Given the description of an element on the screen output the (x, y) to click on. 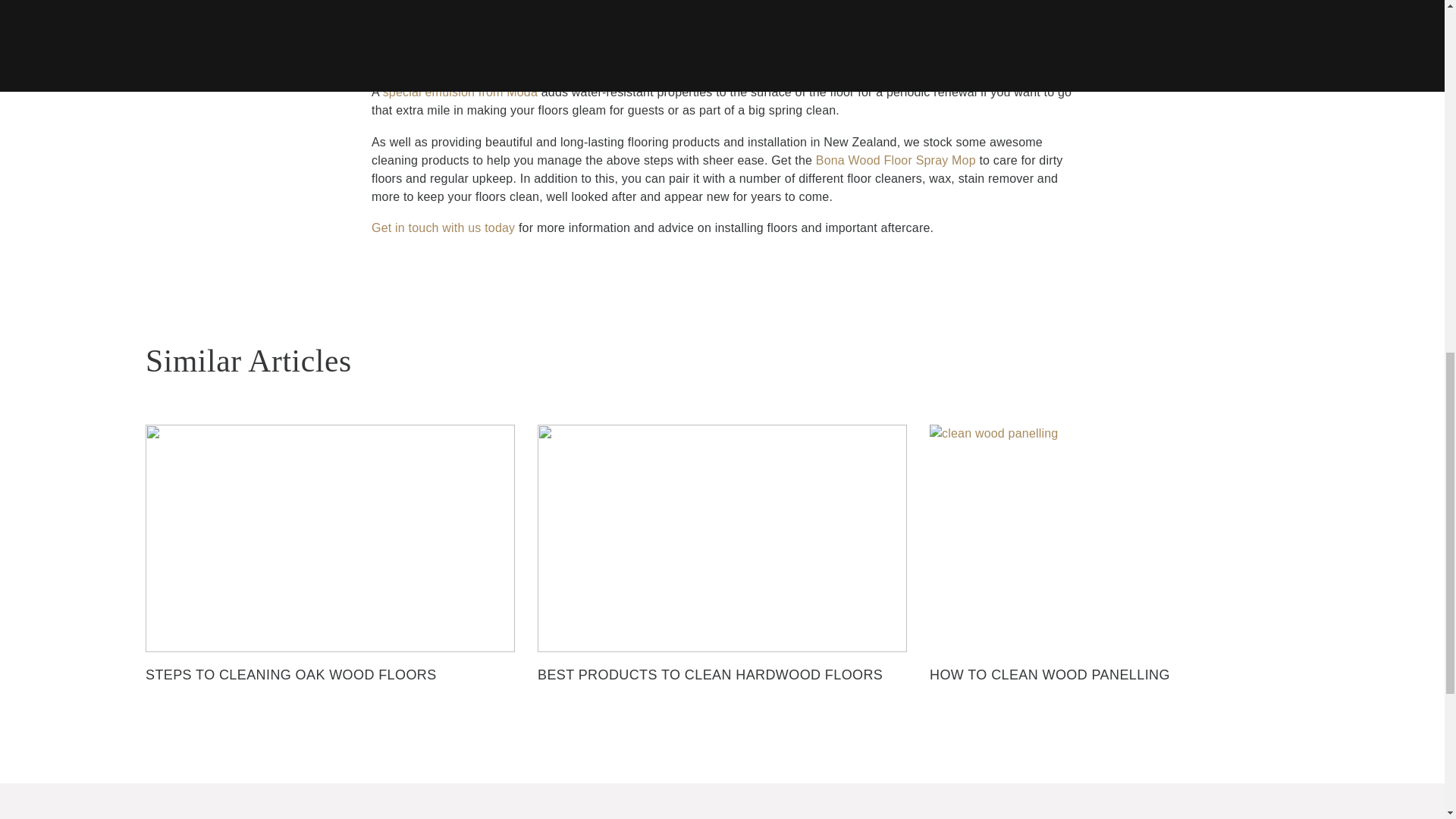
STEPS TO CLEANING OAK WOOD FLOORS (330, 573)
HOW TO CLEAN WOOD PANELLING (1114, 573)
Get in touch with us today (443, 227)
special emulsion from Moda (459, 91)
BEST PRODUCTS TO CLEAN HARDWOOD FLOORS (722, 573)
Bona Wood Floor Spray Mop (895, 159)
